Given the description of an element on the screen output the (x, y) to click on. 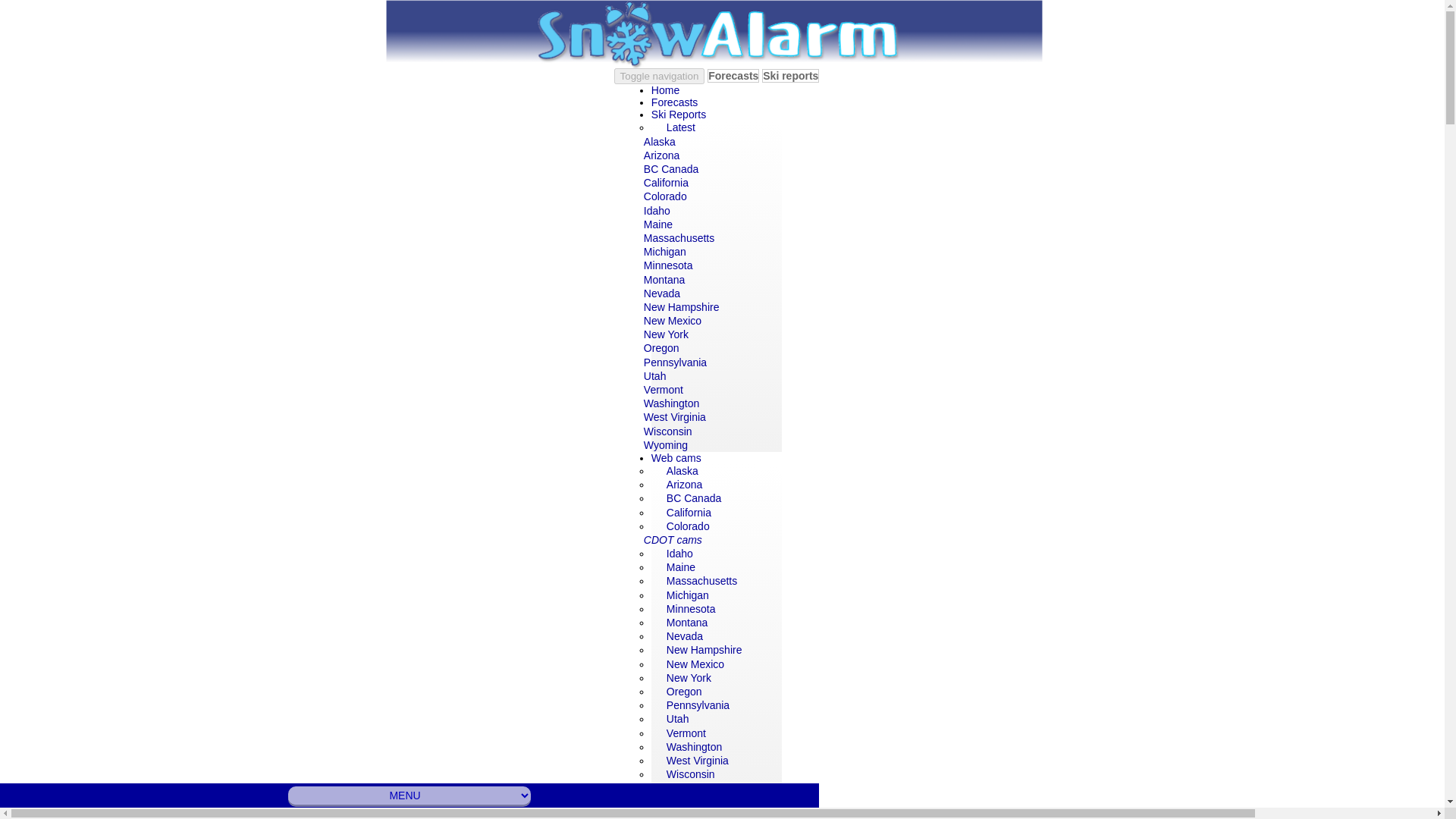
Ski reports (789, 75)
Colorado (687, 526)
Alaska (659, 141)
Forecasts (673, 98)
Idaho (656, 210)
CDOT cams (672, 539)
New York (665, 334)
BC Canada (670, 168)
Washington (670, 403)
Ski Reports (678, 110)
Toggle navigation (659, 75)
California (665, 182)
New Hampshire (681, 306)
Pennsylvania (674, 362)
Maine (657, 224)
